Given the description of an element on the screen output the (x, y) to click on. 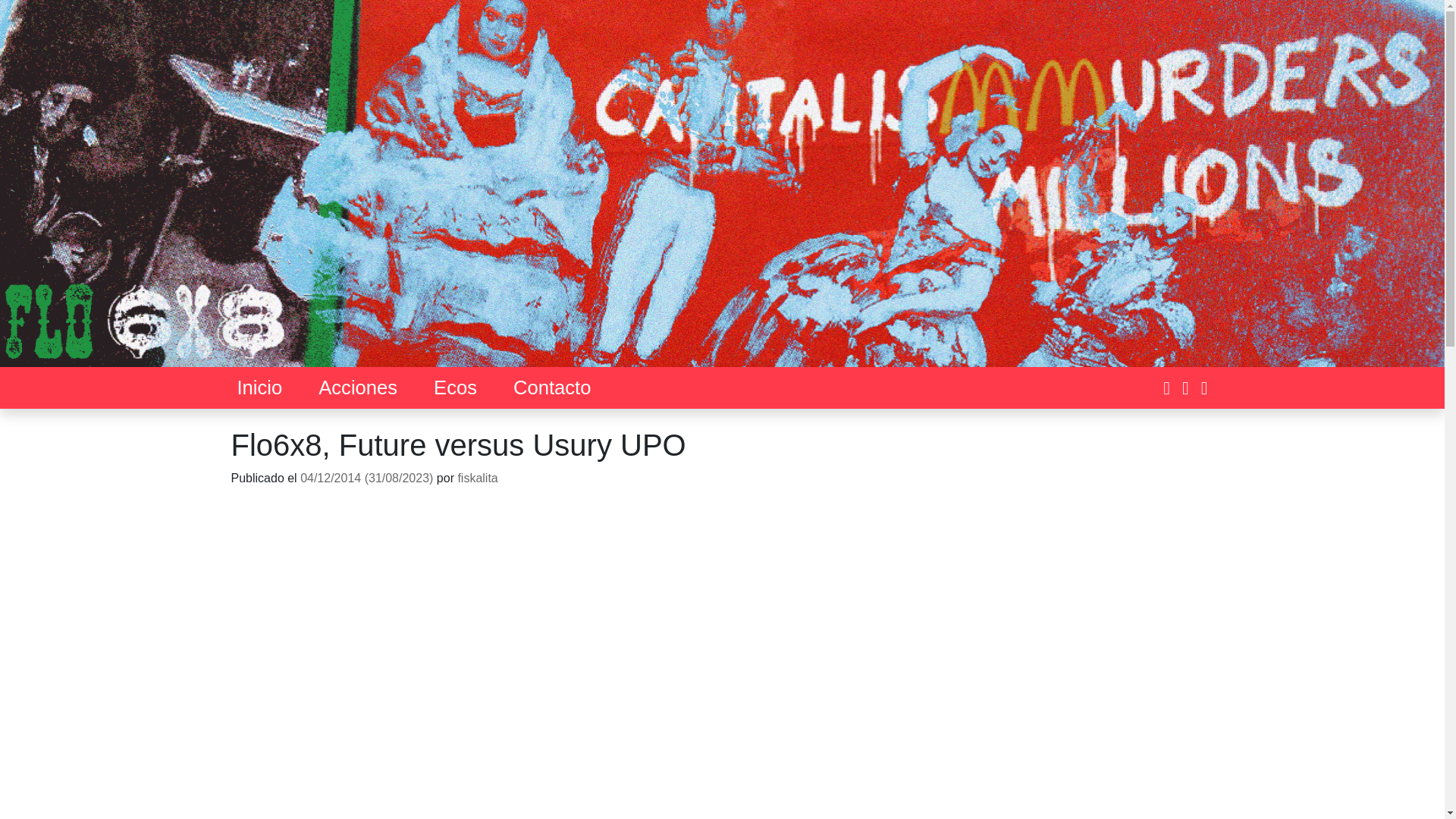
Ecos (455, 386)
Acciones (358, 386)
fiskalita (477, 477)
Inicio (259, 386)
Inicio (259, 386)
Contacto (551, 386)
Ecos (455, 386)
Acciones (358, 386)
